Given the description of an element on the screen output the (x, y) to click on. 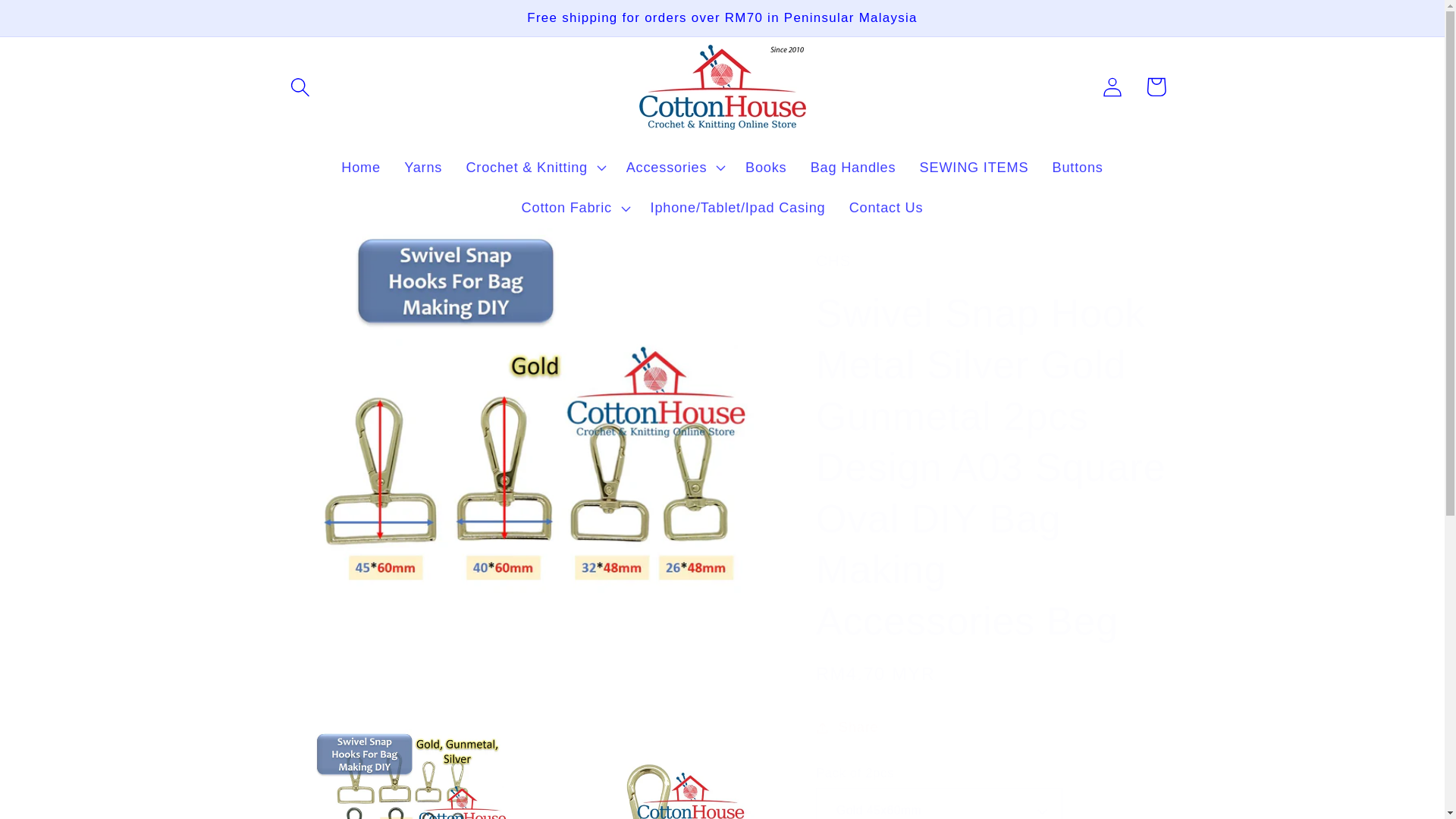
Open media 2 in modal (397, 773)
Skip to content (59, 22)
SEWING ITEMS (974, 167)
Books (765, 167)
Home (361, 167)
Open media 6 in modal (647, 773)
Yarns (423, 167)
Bag Handles (852, 167)
